Given the description of an element on the screen output the (x, y) to click on. 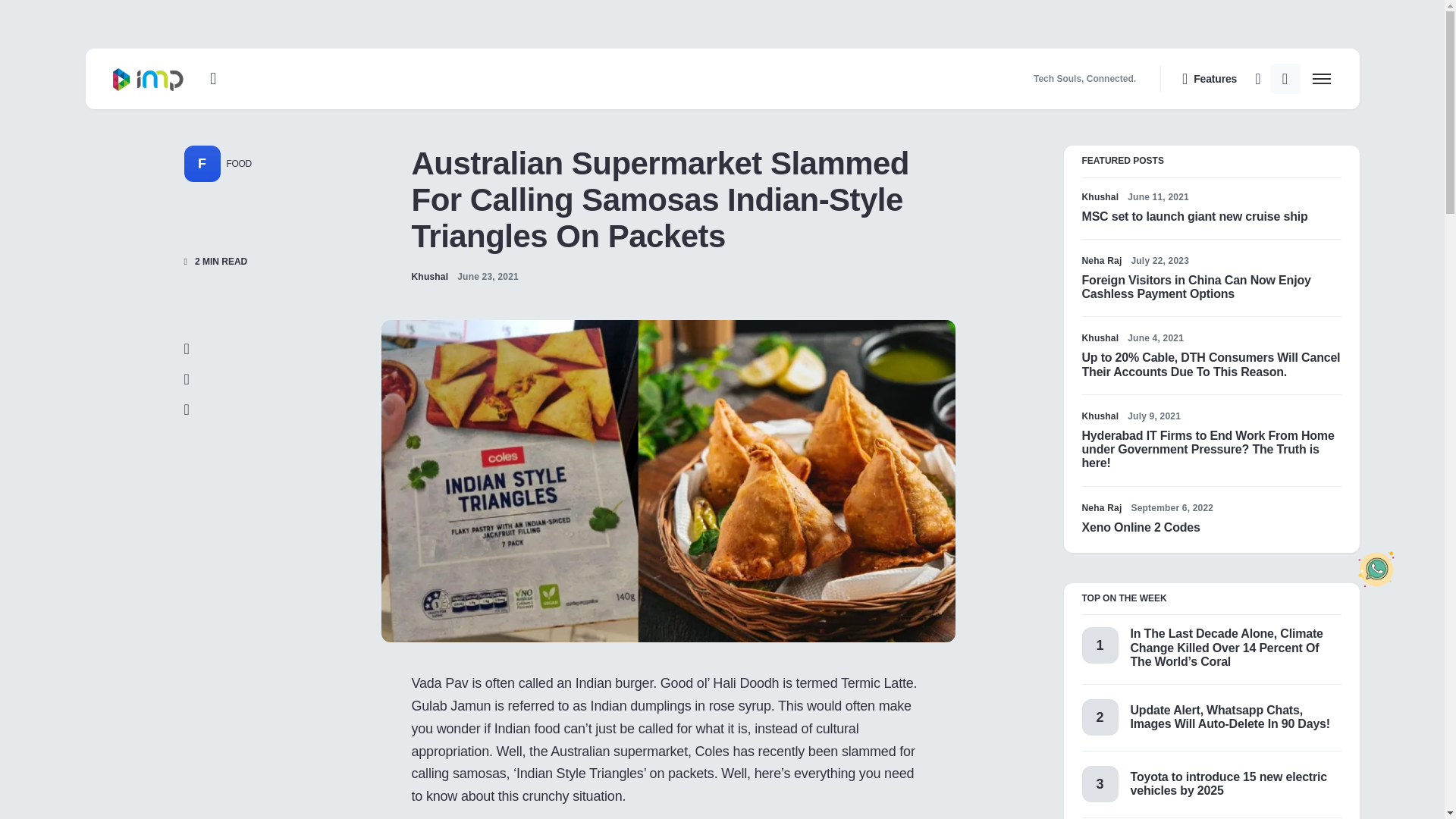
View all posts by Neha Raj (1101, 260)
View all posts by Khushal (1099, 337)
View all posts by Khushal (429, 276)
View all posts by Khushal (1099, 196)
